Given the description of an element on the screen output the (x, y) to click on. 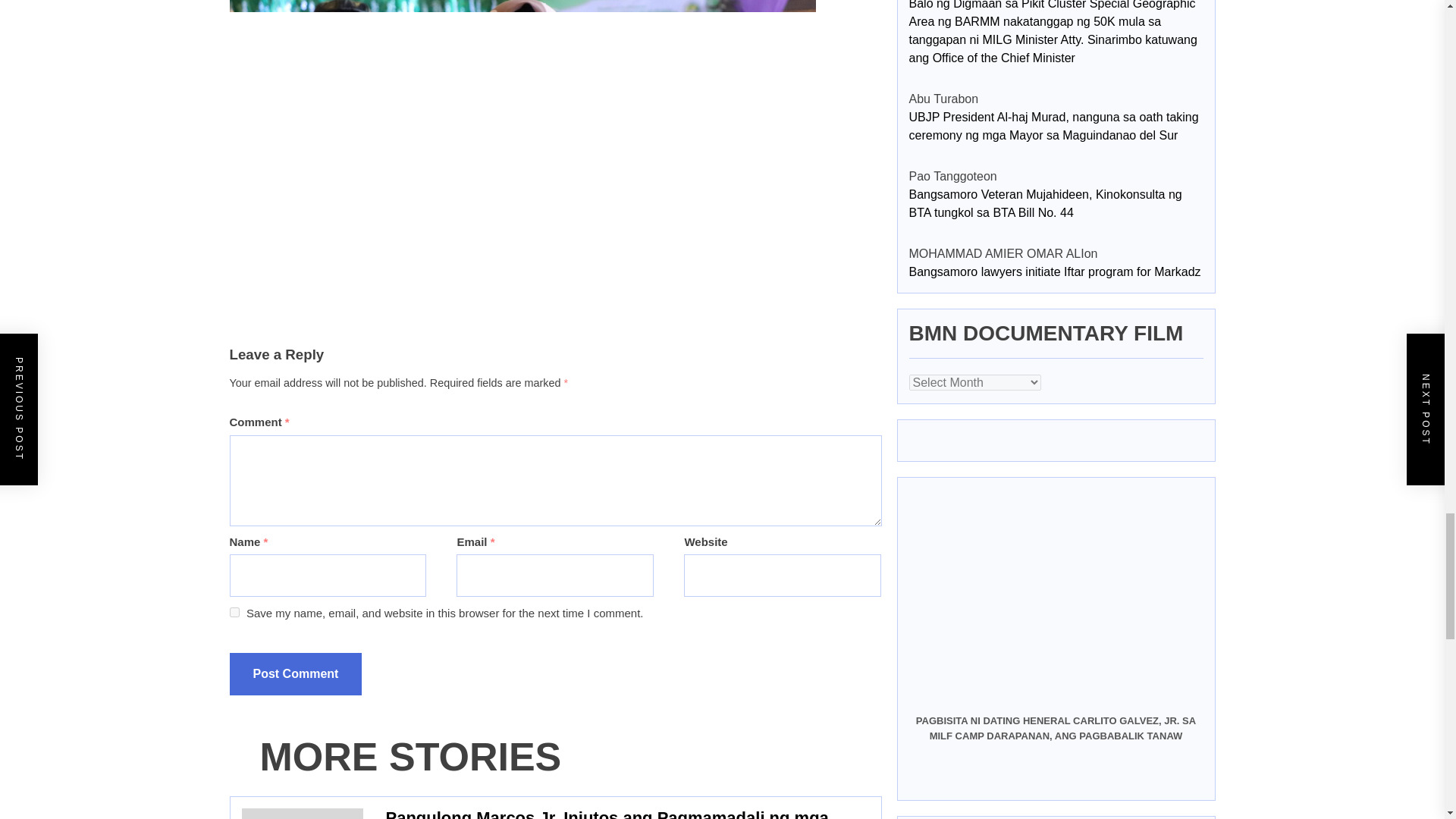
BangsamoroToday (362, 748)
